Given the description of an element on the screen output the (x, y) to click on. 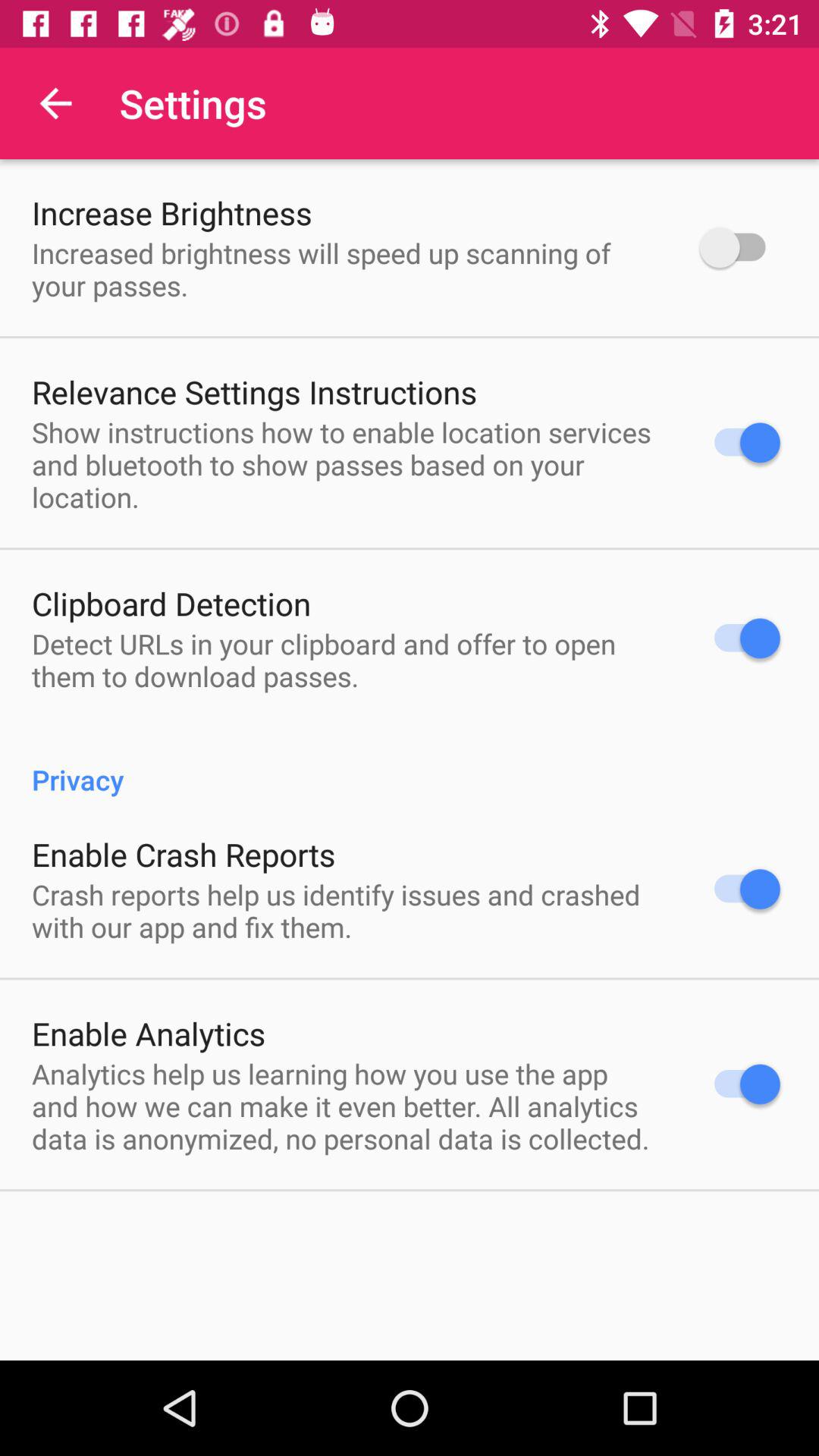
press icon above increased brightness will item (171, 212)
